Given the description of an element on the screen output the (x, y) to click on. 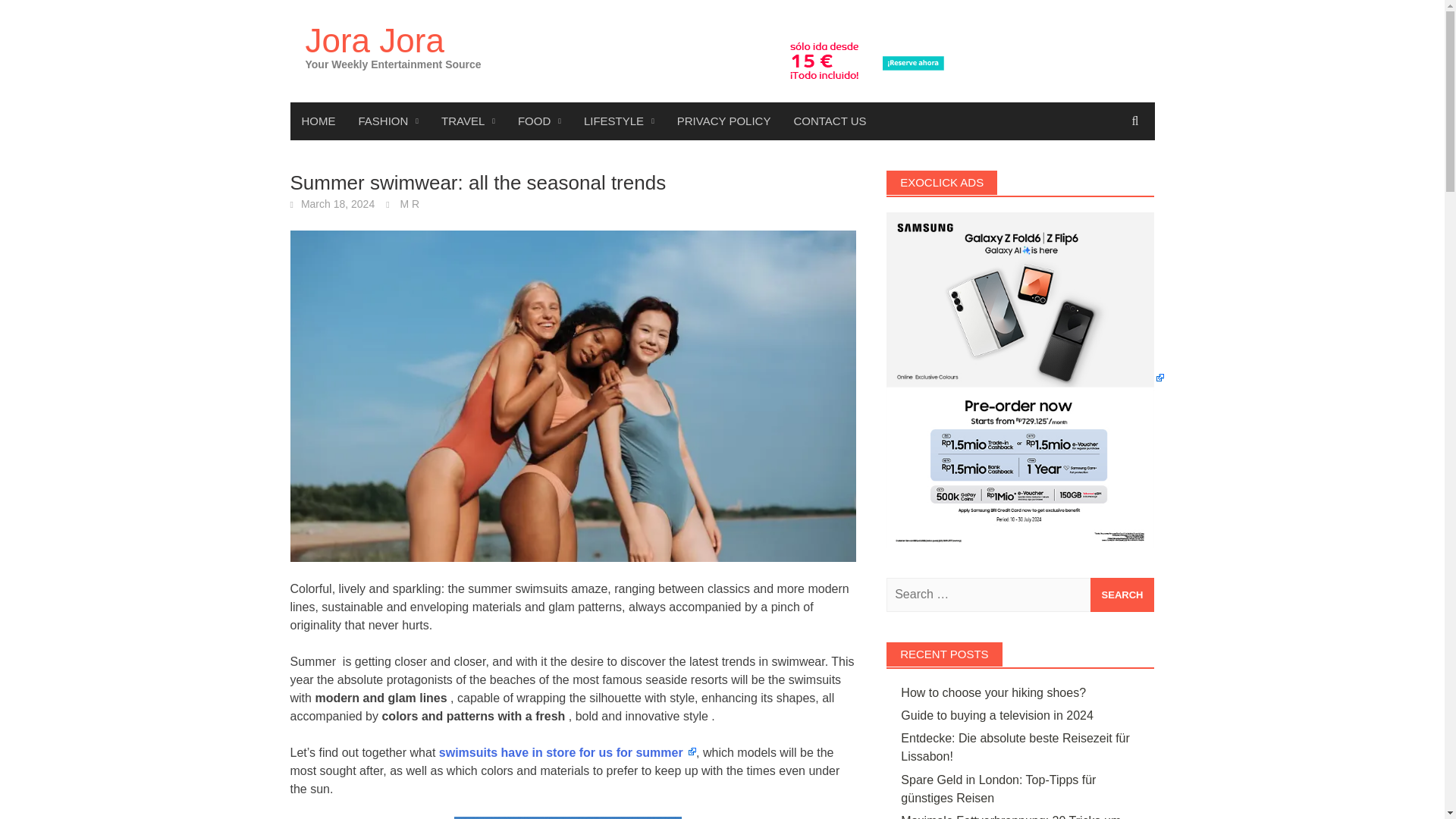
HOME (317, 121)
Jora Jora (374, 40)
LIFESTYLE (618, 121)
CONTACT US (829, 121)
FOOD (539, 121)
FASHION (388, 121)
Search (1122, 594)
TRAVEL (467, 121)
Search (1122, 594)
PRIVACY POLICY (724, 121)
